Given the description of an element on the screen output the (x, y) to click on. 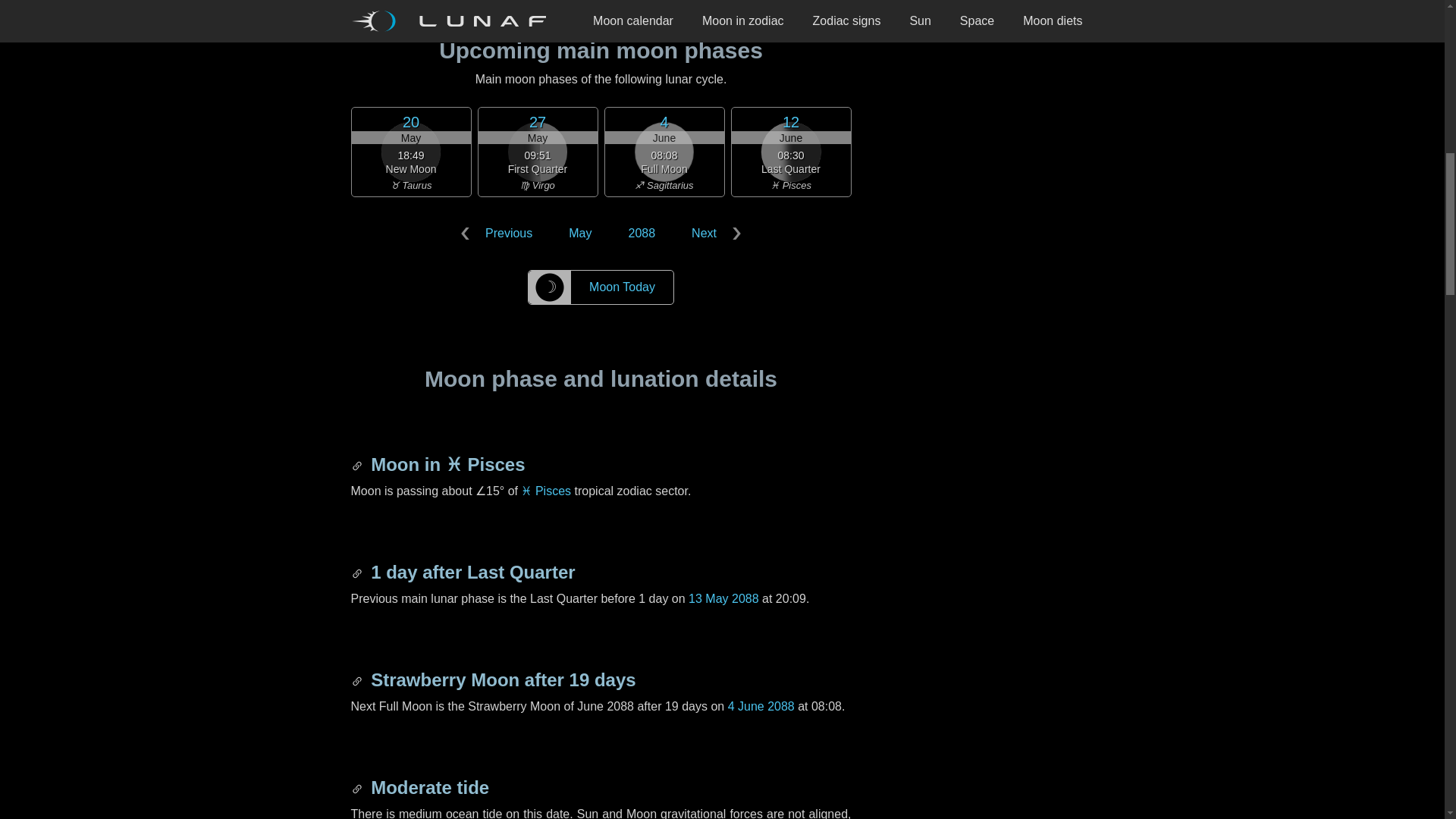
May (580, 233)
4 June 2088 (761, 706)
13 May 2088 (723, 598)
Previous (499, 233)
Next (712, 233)
2088 (641, 233)
